Given the description of an element on the screen output the (x, y) to click on. 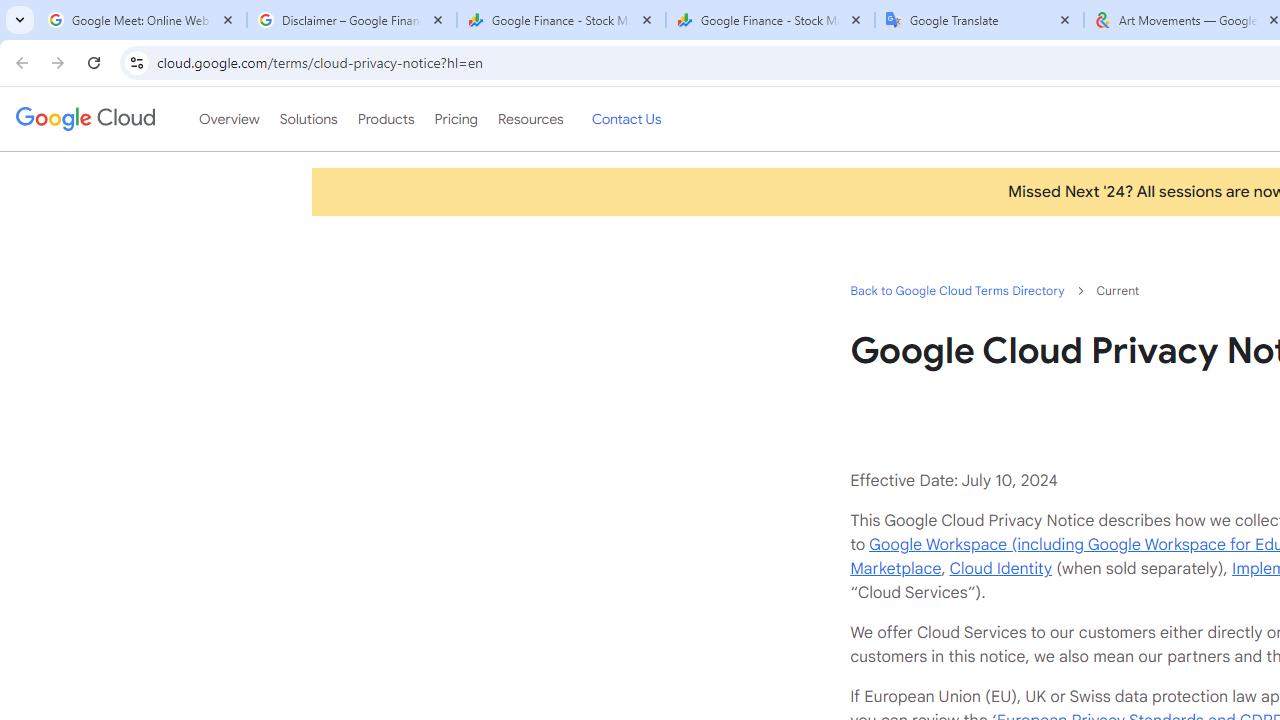
Google Cloud (84, 118)
Cloud Identity (1000, 568)
Back to Google Cloud Terms Directory (956, 290)
Products (385, 119)
Pricing (455, 119)
Resources (530, 119)
Contact Us (626, 119)
Google Translate (979, 20)
